Given the description of an element on the screen output the (x, y) to click on. 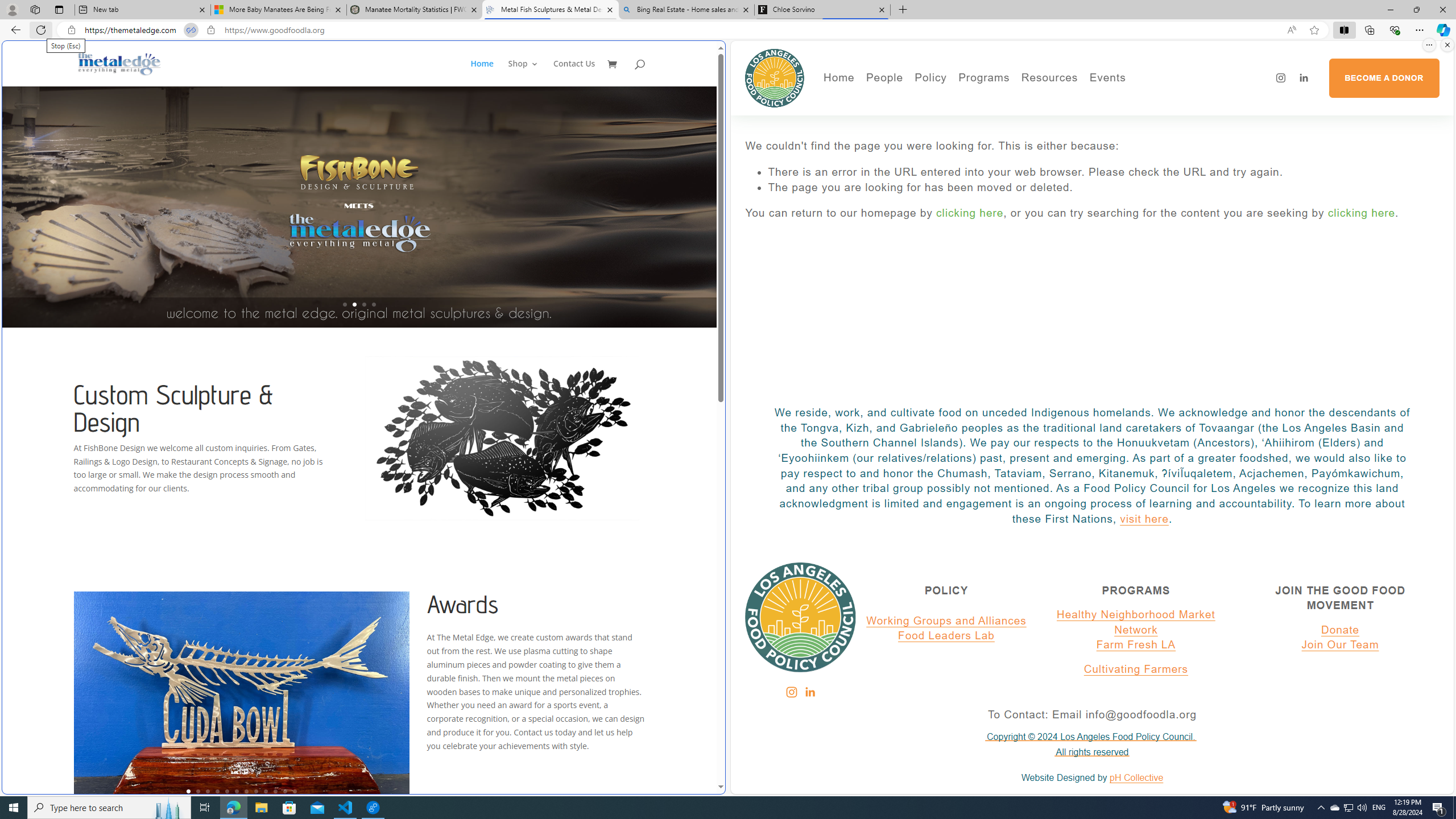
Blog (922, 148)
Class: sqs-svg-icon--social (809, 692)
Instagram (790, 692)
6 (236, 790)
pH Collective (1136, 777)
Programs (984, 77)
Donate (1339, 630)
11 (284, 790)
Policy (930, 77)
4 (217, 790)
